Given the description of an element on the screen output the (x, y) to click on. 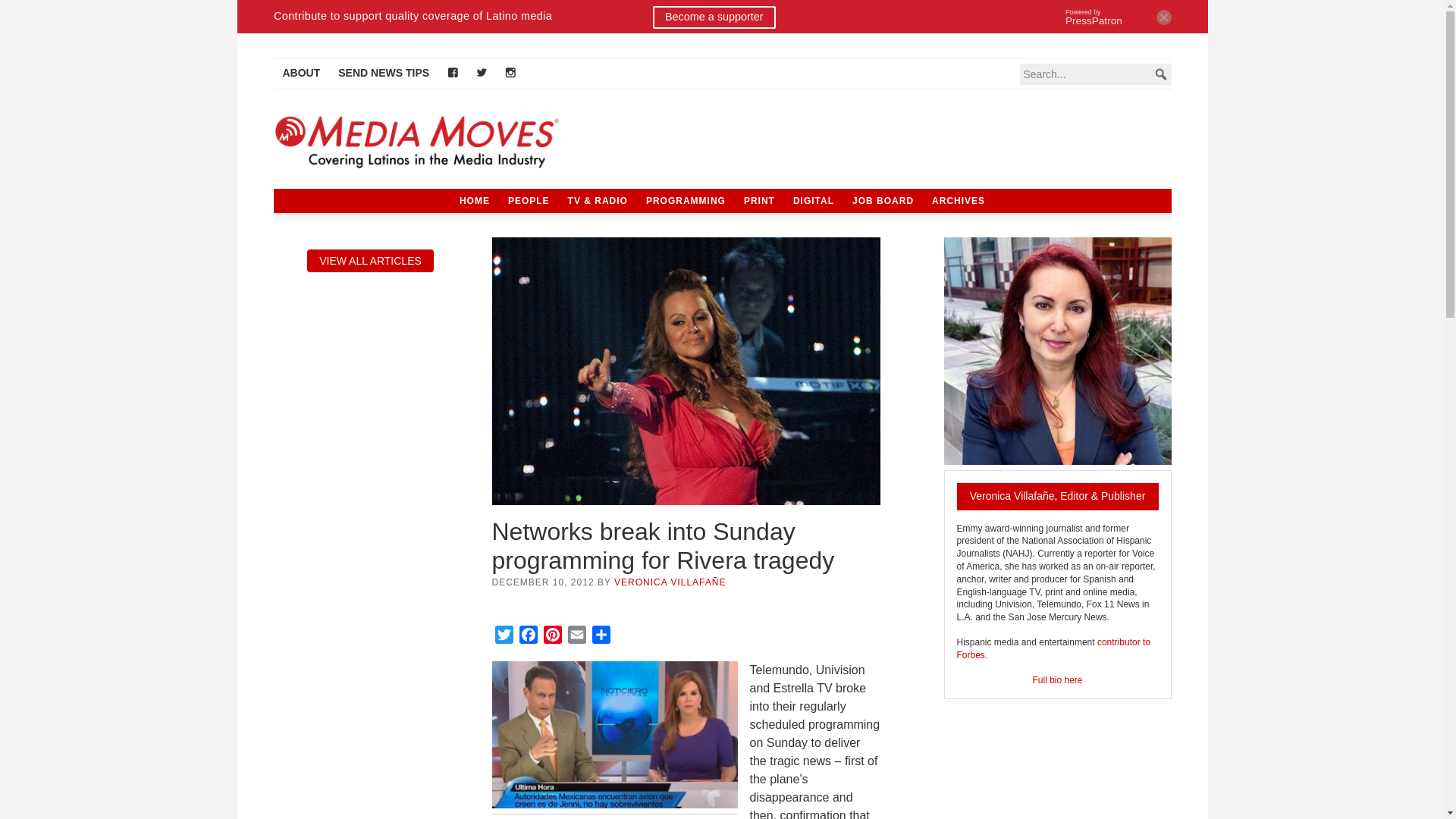
Pinterest (552, 637)
Twitter (503, 637)
Pinterest (552, 637)
Facebook (527, 637)
Search (34, 11)
HOME (474, 200)
Email (576, 637)
PEOPLE (529, 200)
Email (576, 637)
SEND NEWS TIPS (383, 73)
